Given the description of an element on the screen output the (x, y) to click on. 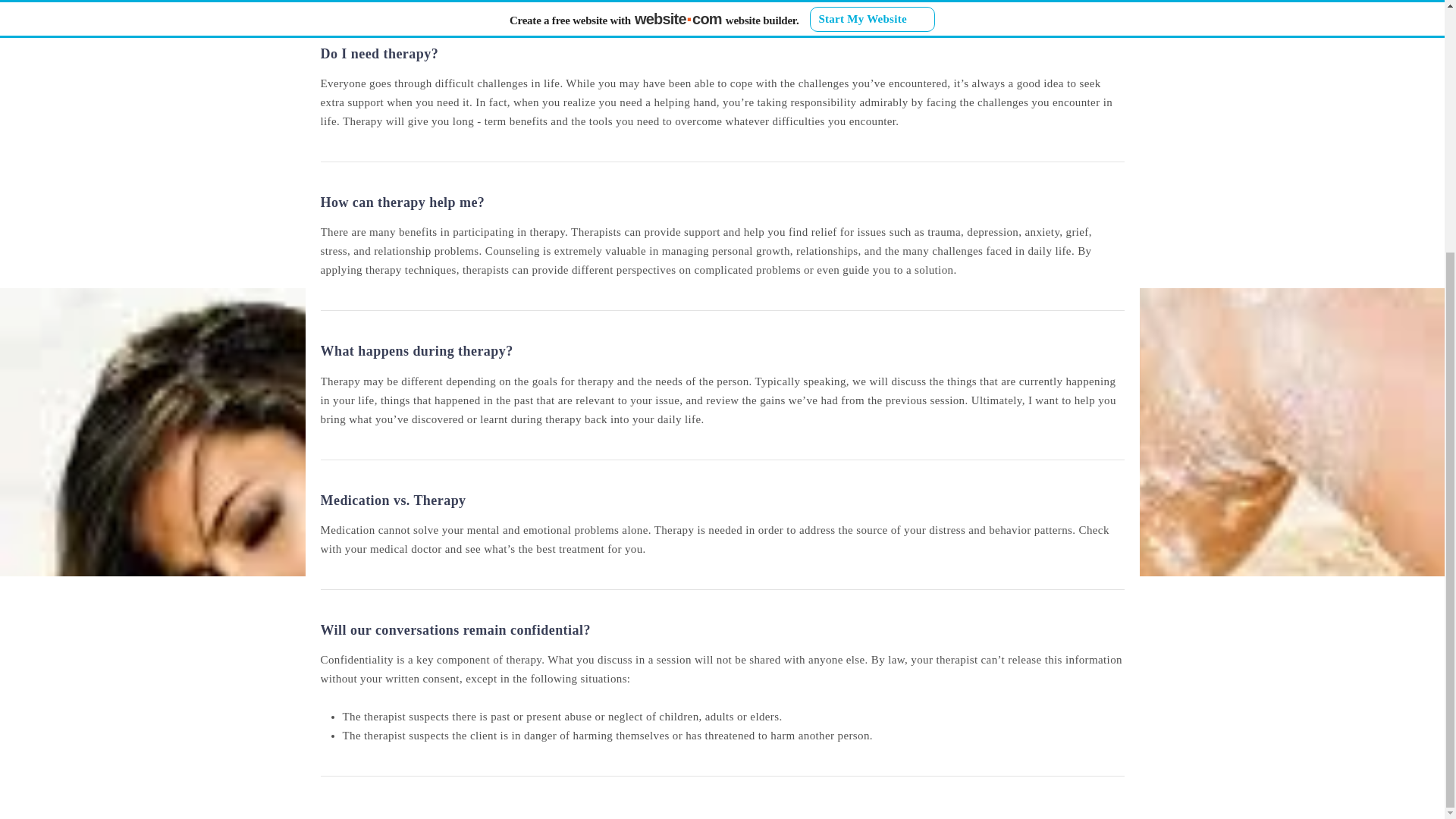
Free Website (597, 460)
Website Builder (842, 460)
